Given the description of an element on the screen output the (x, y) to click on. 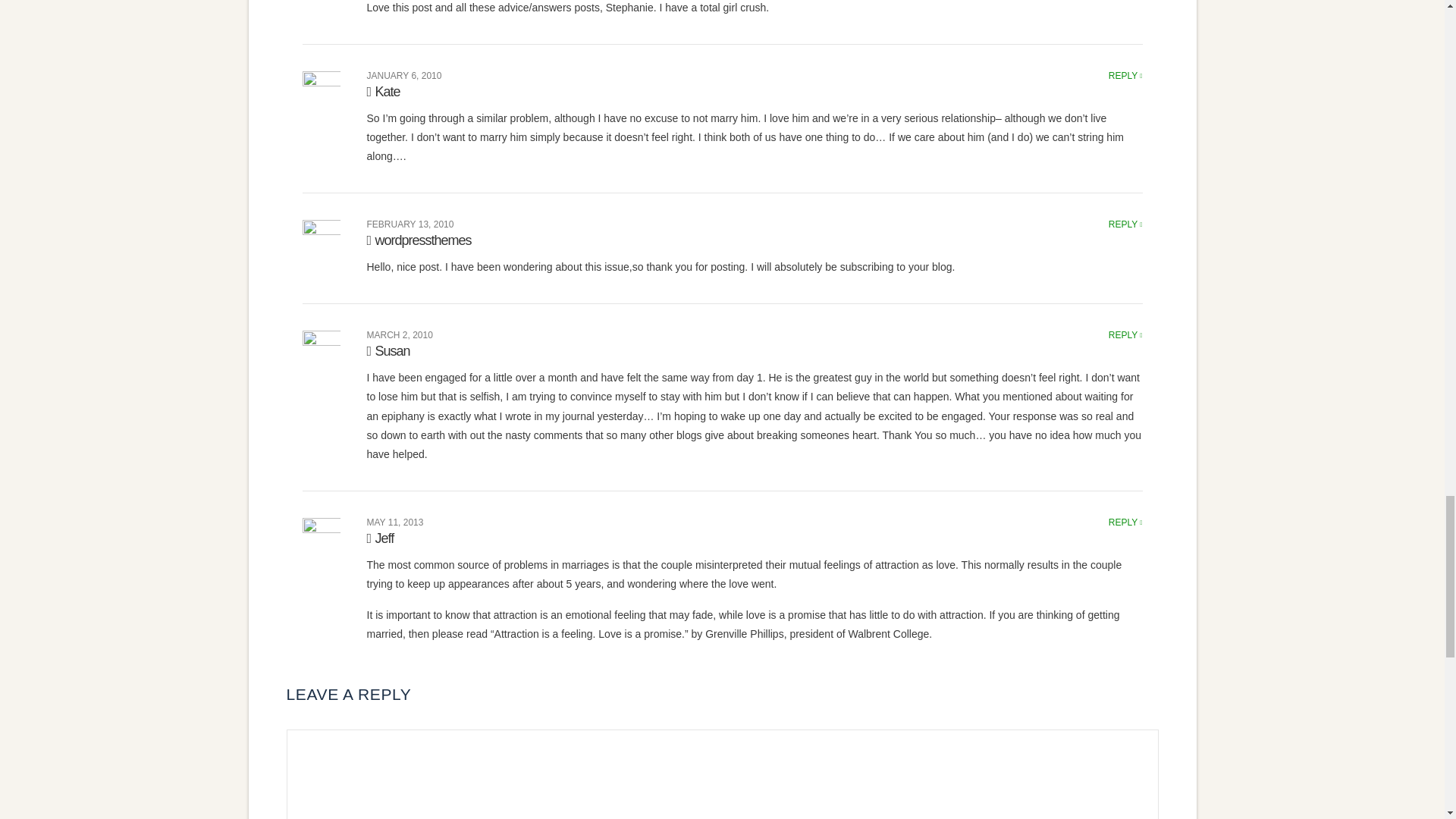
FEBRUARY 13, 2010 (410, 224)
JANUARY 6, 2010 (404, 75)
REPLY (1125, 75)
